Given the description of an element on the screen output the (x, y) to click on. 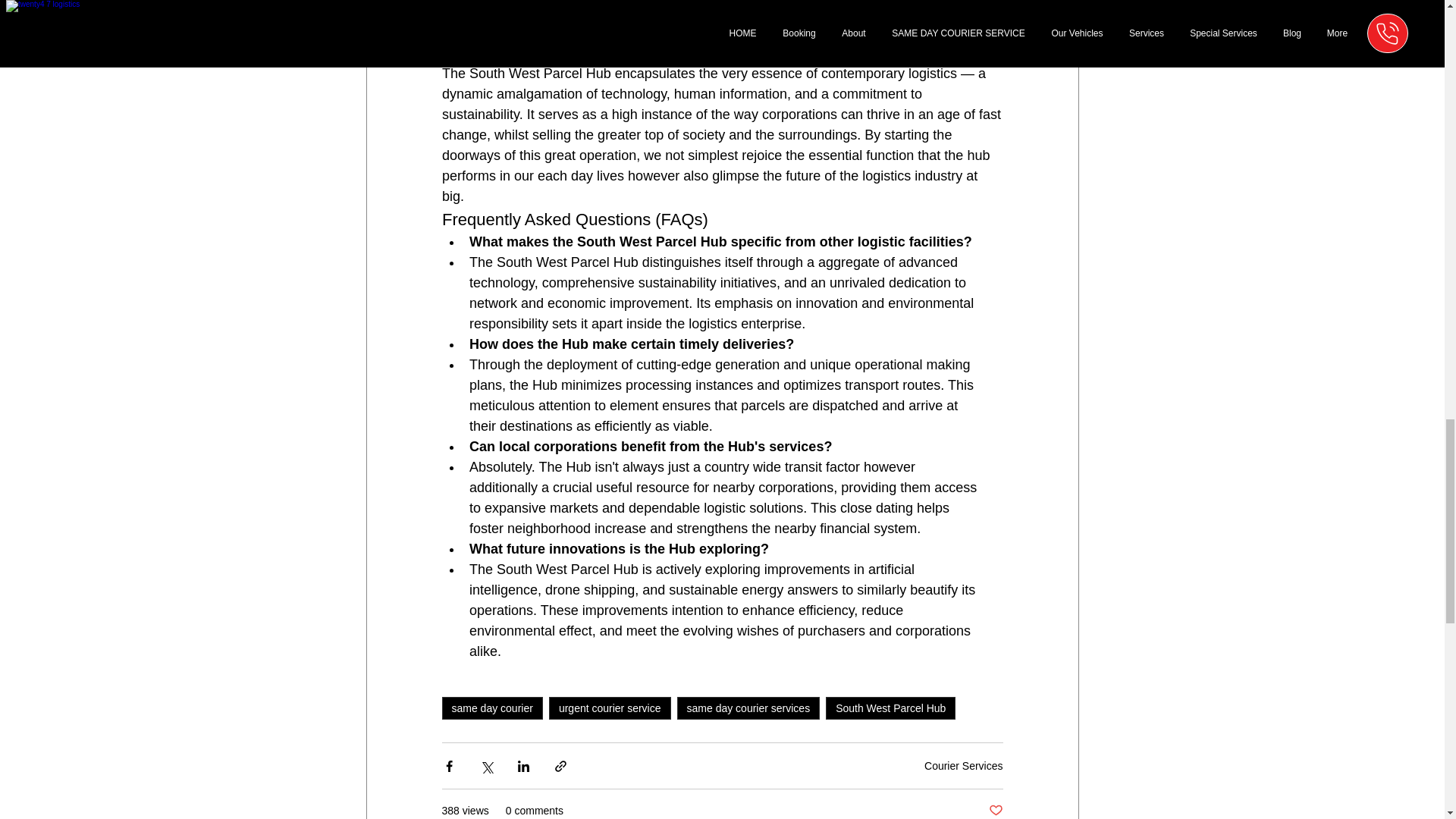
urgent courier service (609, 707)
same day courier (491, 707)
same day courier services (749, 707)
South West Parcel Hub (890, 707)
